Given the description of an element on the screen output the (x, y) to click on. 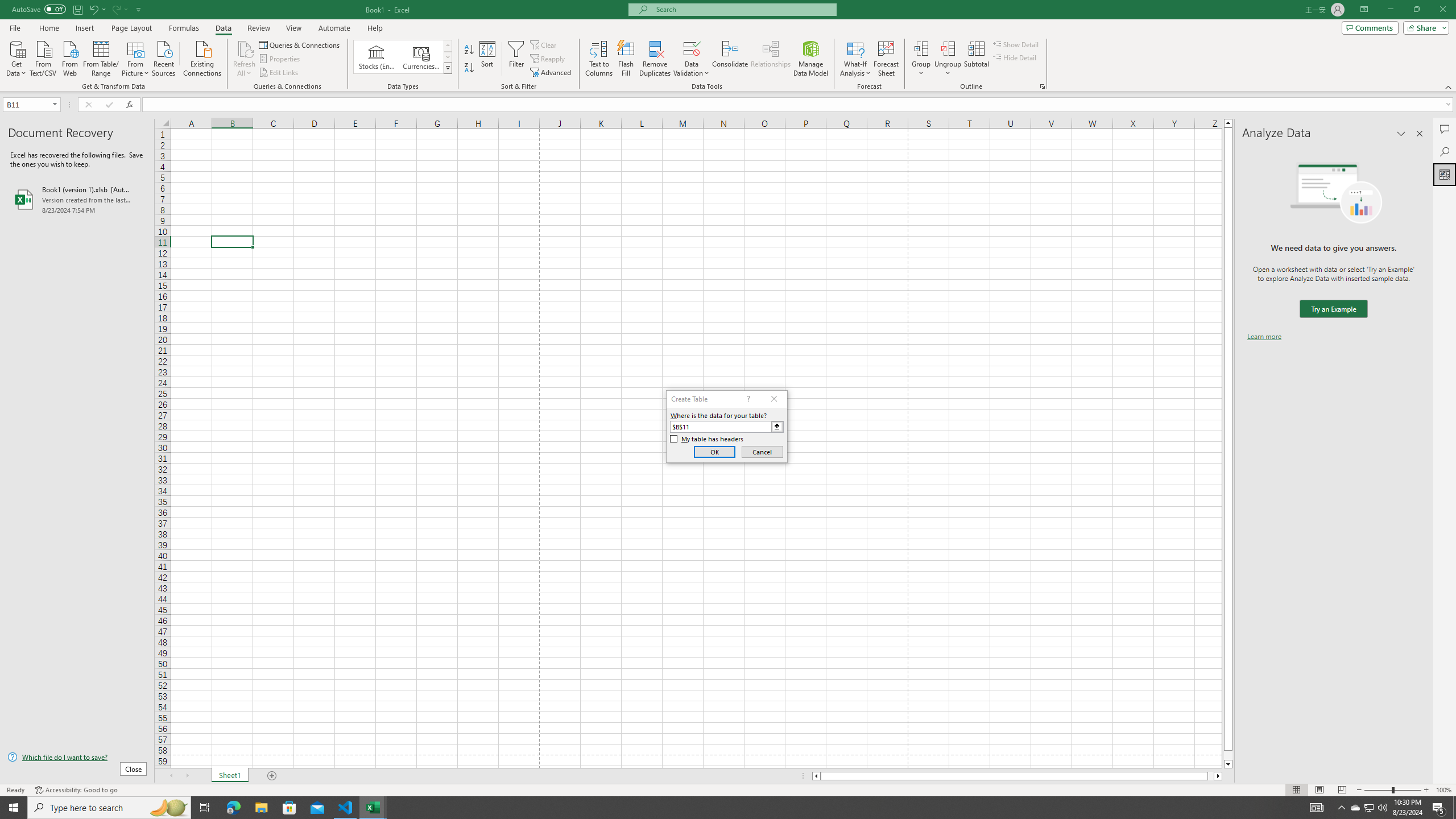
Learn more (1264, 336)
From Picture (135, 57)
Get Data (16, 57)
Edit Links (279, 72)
Sort... (487, 58)
Existing Connections (202, 57)
